Given the description of an element on the screen output the (x, y) to click on. 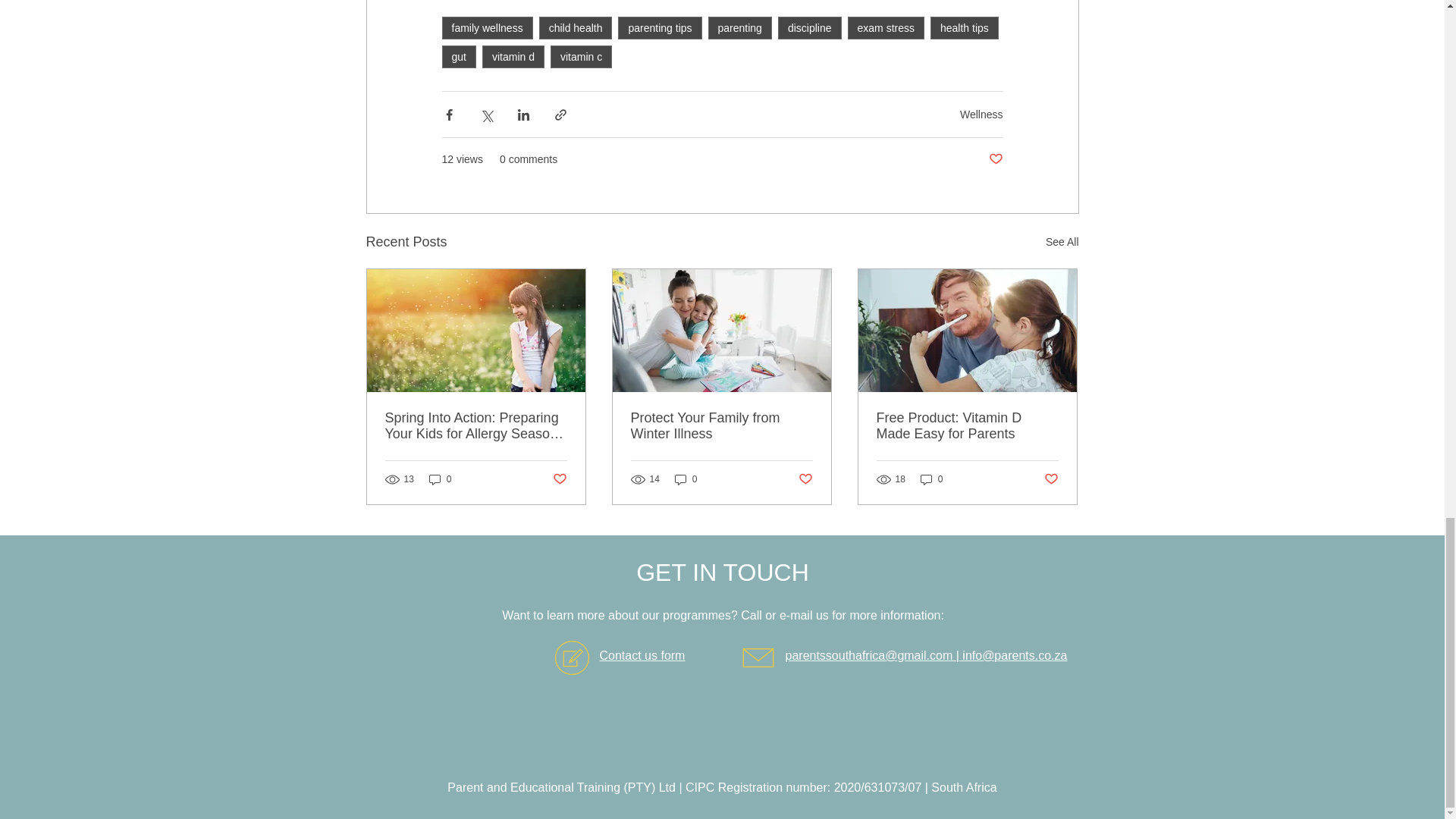
See All (1061, 241)
health tips (964, 27)
child health (575, 27)
vitamin d (512, 56)
Post not marked as liked (995, 159)
parenting (739, 27)
parenting tips (659, 27)
discipline (809, 27)
family wellness (486, 27)
gut (458, 56)
exam stress (885, 27)
Wellness (981, 114)
vitamin c (580, 56)
